Given the description of an element on the screen output the (x, y) to click on. 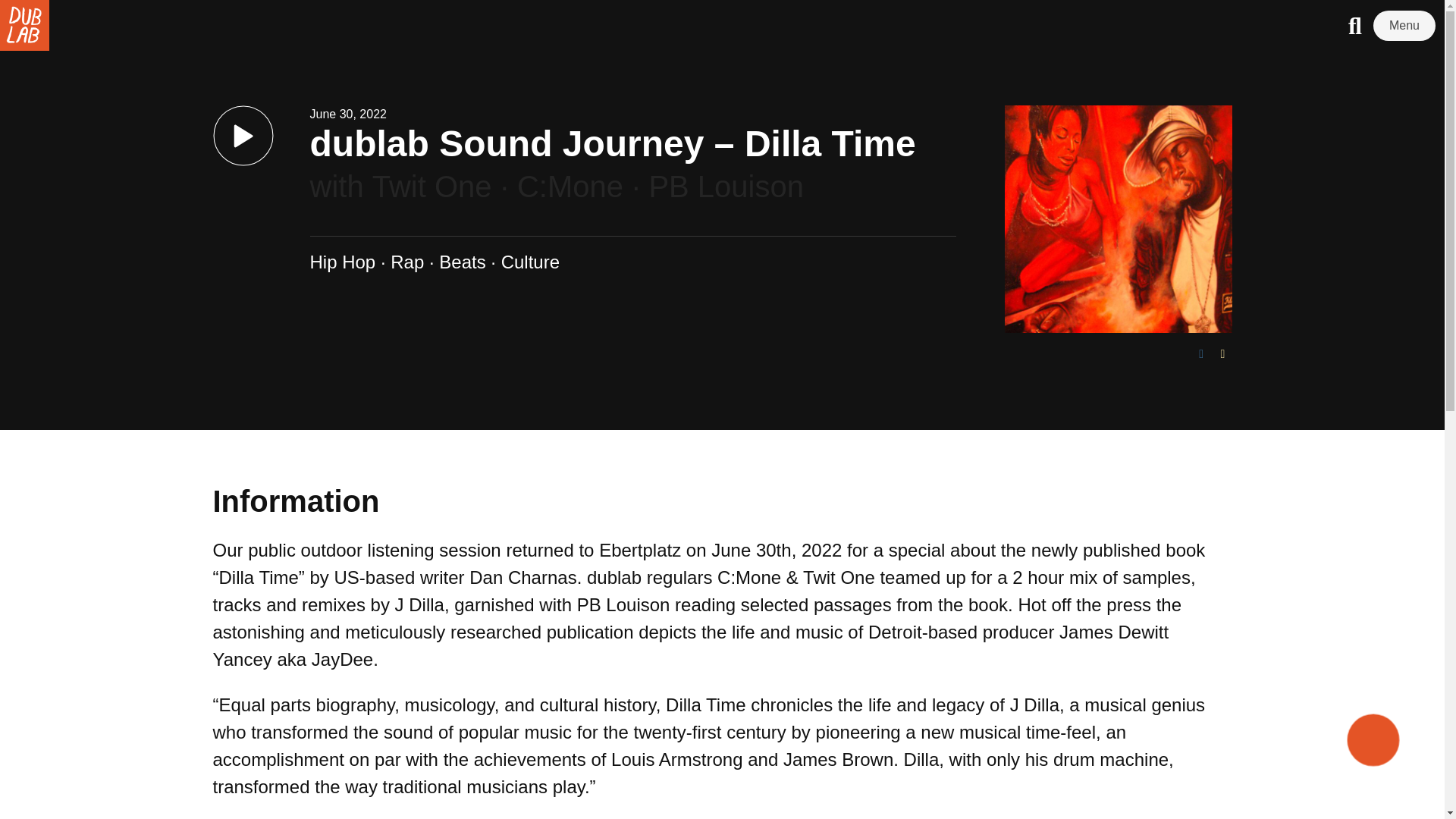
Culture (529, 261)
Hip Hop (341, 261)
Beats (461, 261)
Rap (406, 261)
Menu (1404, 25)
